Given the description of an element on the screen output the (x, y) to click on. 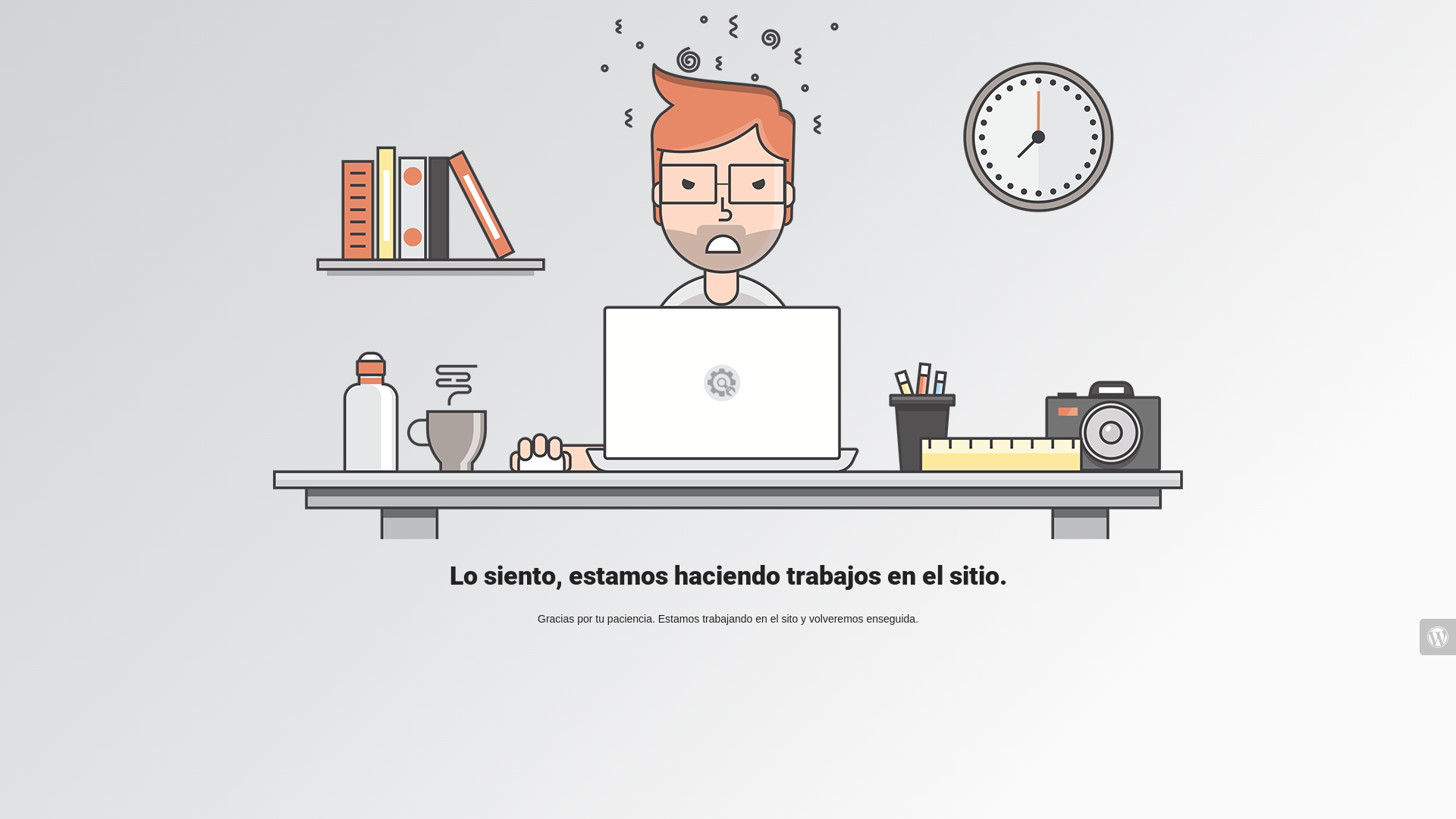
Mad Designer at work Element type: hover (728, 277)
